Given the description of an element on the screen output the (x, y) to click on. 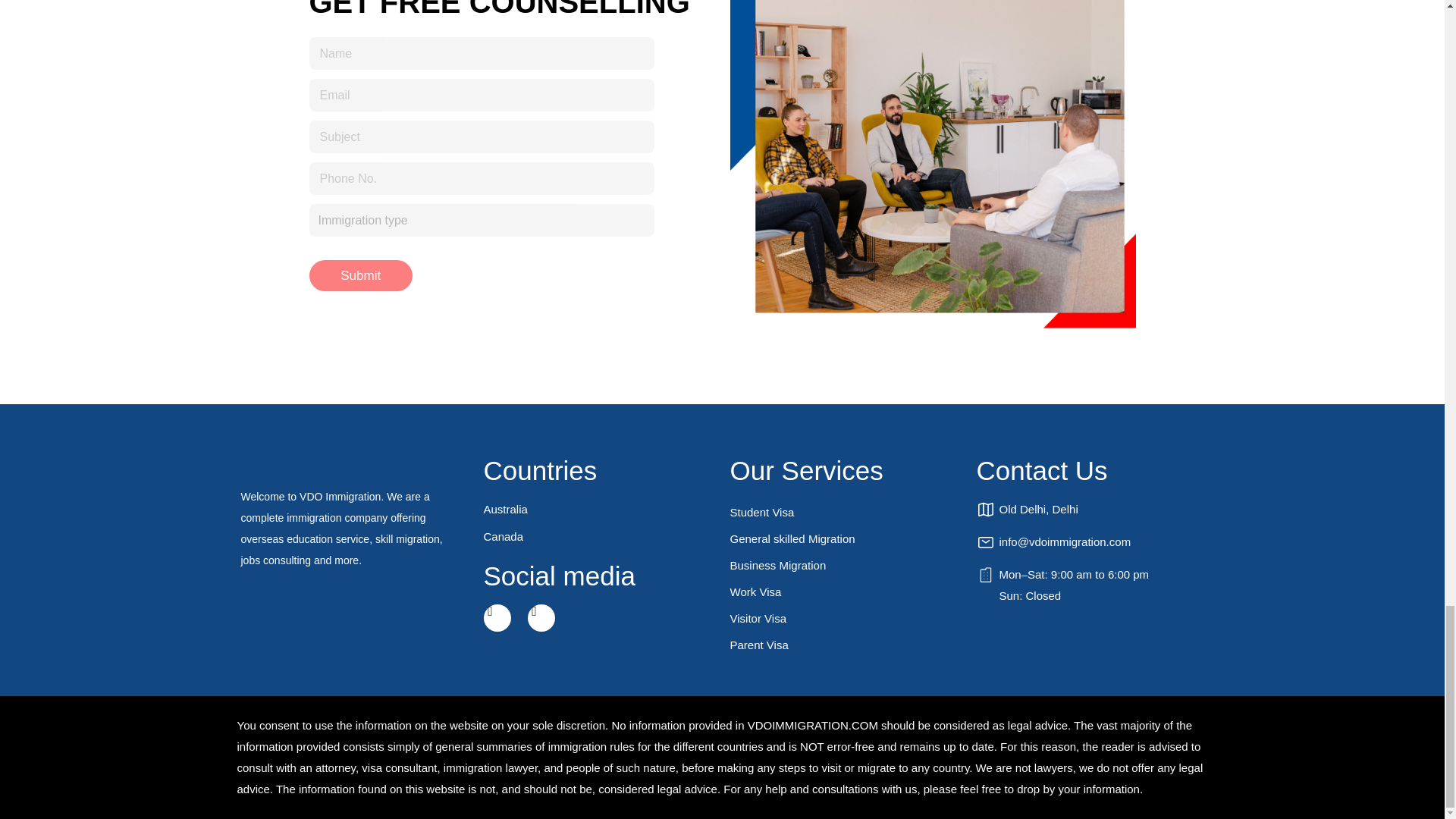
General skilled Migration (844, 538)
Student Visa (844, 511)
Parent Visa (844, 644)
Submit (360, 275)
Visitor Visa (844, 618)
Business Migration (844, 565)
Australia (598, 509)
Work Visa (844, 591)
Canada (598, 536)
